Given the description of an element on the screen output the (x, y) to click on. 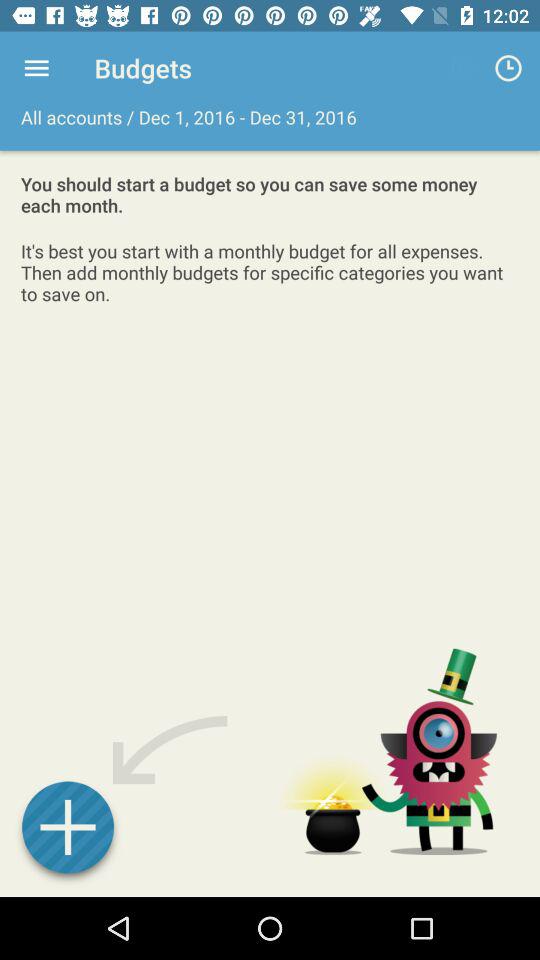
select app next to the all accounts dec app (508, 67)
